Given the description of an element on the screen output the (x, y) to click on. 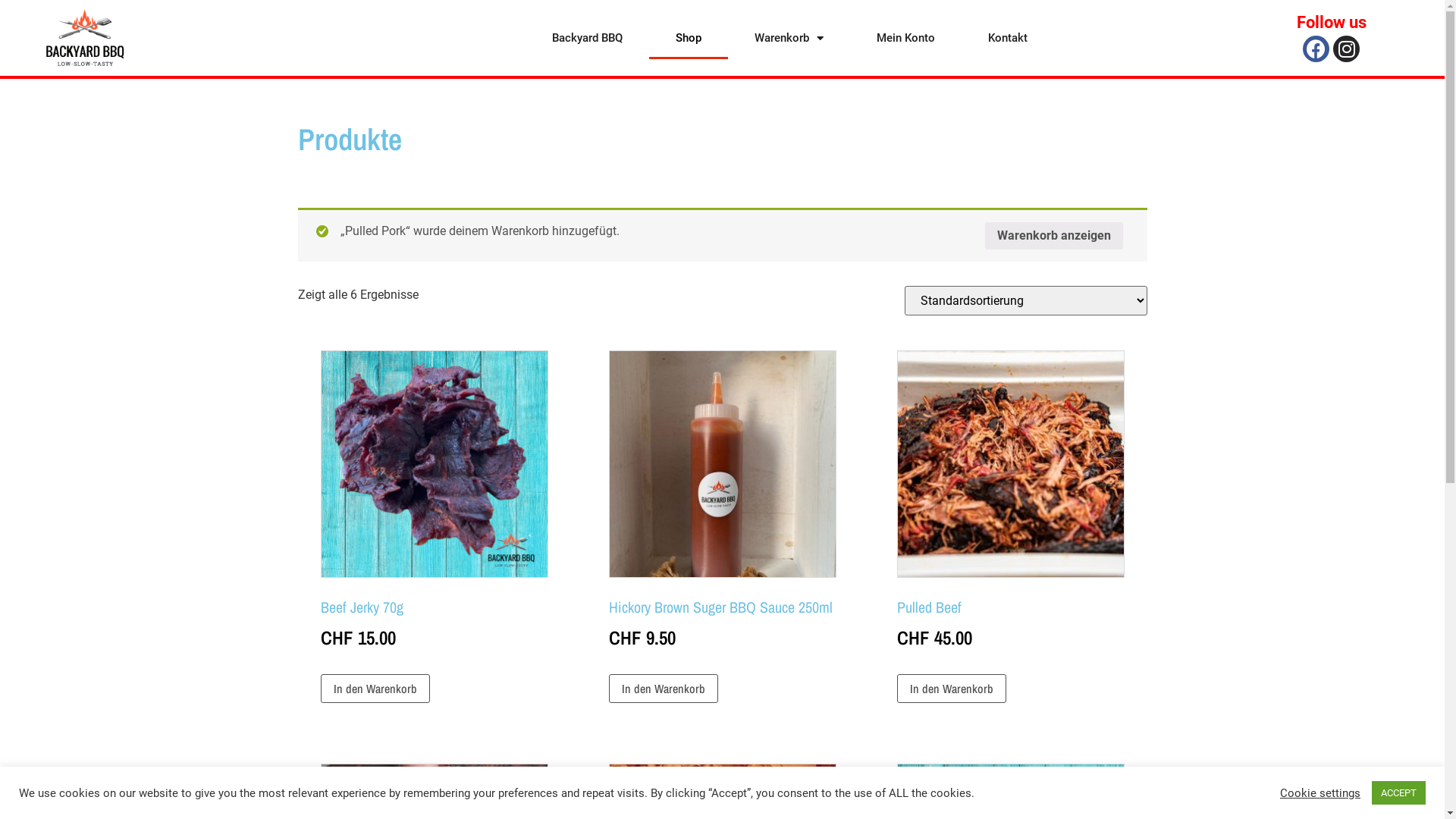
In den Warenkorb Element type: text (662, 688)
Pulled Beef
CHF 45.00 Element type: text (1009, 501)
ACCEPT Element type: text (1398, 792)
Shop Element type: text (688, 37)
In den Warenkorb Element type: text (374, 688)
Warenkorb Element type: text (789, 37)
Cookie settings Element type: text (1320, 792)
Warenkorb anzeigen Element type: text (1053, 235)
In den Warenkorb Element type: text (950, 688)
Beef Jerky 70g
CHF 15.00 Element type: text (433, 501)
Hickory Brown Suger BBQ Sauce 250ml
CHF 9.50 Element type: text (721, 501)
Mein Konto Element type: text (905, 37)
Kontakt Element type: text (1007, 37)
Backyard BBQ Element type: text (587, 37)
